Given the description of an element on the screen output the (x, y) to click on. 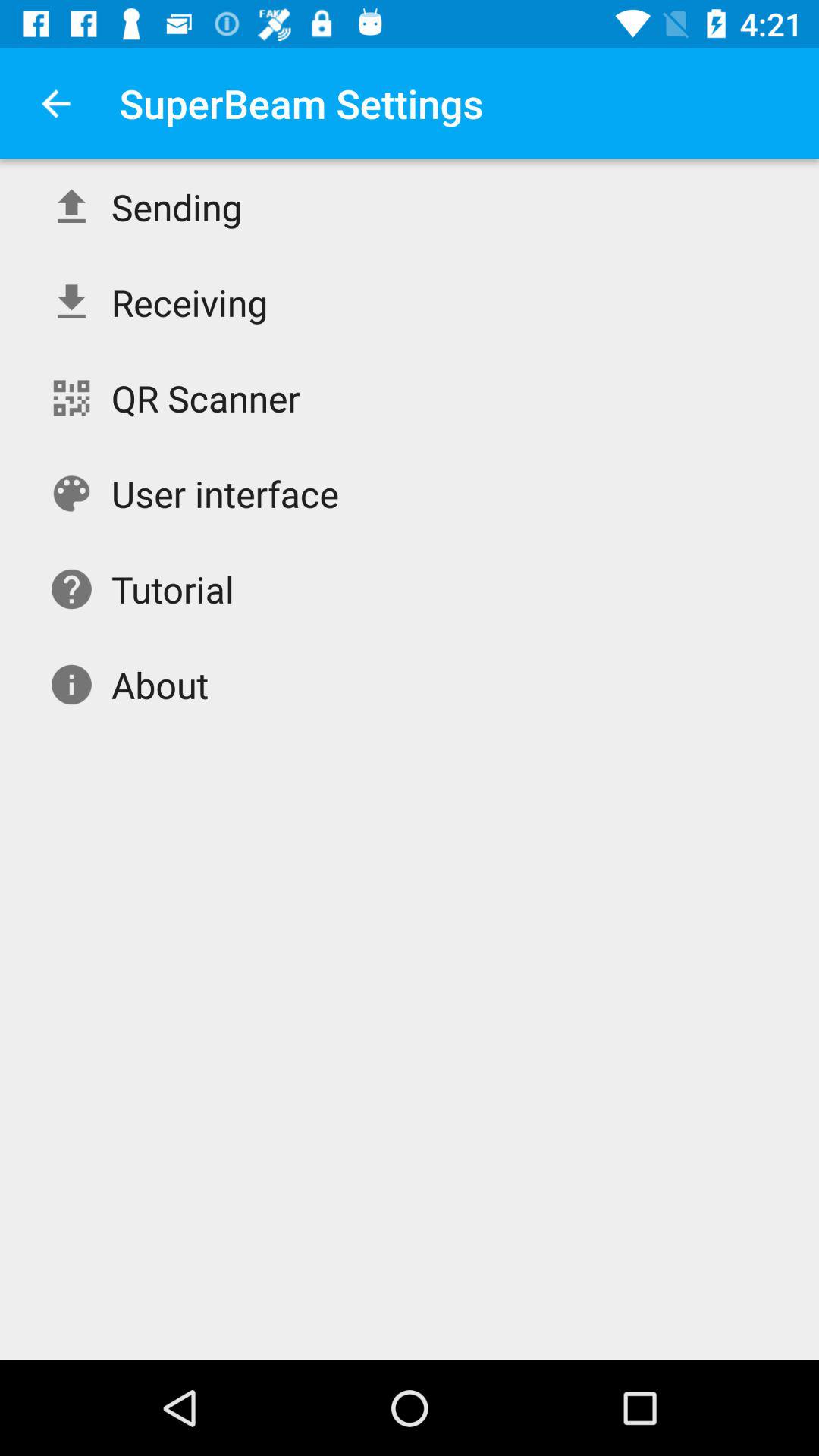
flip to the receiving app (189, 302)
